Given the description of an element on the screen output the (x, y) to click on. 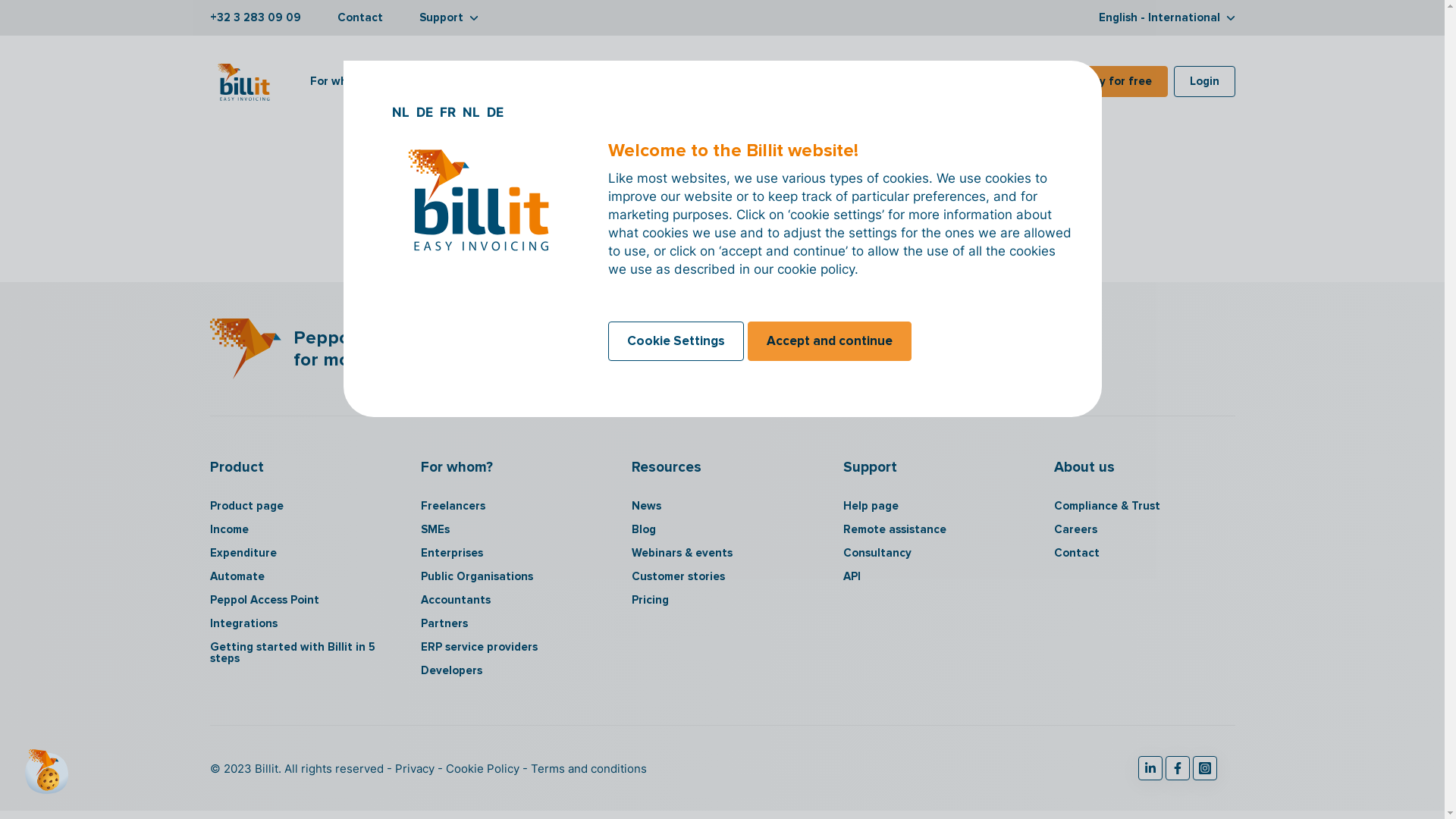
cookie policy Element type: text (815, 268)
Pricing Element type: text (721, 599)
Contact Element type: text (1144, 552)
Terms and conditions Element type: text (583, 768)
Webinars & events Element type: text (721, 552)
Income Element type: text (299, 529)
FR Element type: text (448, 111)
Product Element type: text (447, 81)
Enterprises Element type: text (510, 552)
News Element type: text (721, 505)
DE Element type: text (425, 111)
text Element type: hover (1204, 768)
Try for free Element type: text (1119, 80)
Contact Element type: text (359, 17)
DE Element type: text (494, 111)
Careers Element type: text (1144, 529)
Automate Element type: text (299, 576)
Accept and continue Element type: text (829, 340)
arrow down Element type: hover (472, 17)
arrow down Element type: hover (830, 80)
NL Element type: text (401, 111)
NL Element type: text (472, 111)
For whom? Element type: text (345, 81)
Support Element type: text (447, 17)
Blog Element type: text (721, 529)
Customer stories Element type: text (721, 576)
Cookie Policy Element type: text (478, 768)
Help page Element type: text (933, 505)
SMEs Element type: text (510, 529)
Partners Element type: text (510, 623)
Peppol Access Point Element type: text (299, 599)
Pricing Element type: text (709, 81)
Expenditure Element type: text (299, 552)
Developers Element type: text (510, 670)
text Element type: hover (1149, 768)
ERP service providers Element type: text (510, 646)
Resources Element type: text (799, 81)
Billit Logo Element type: hover (244, 85)
text Element type: hover (1176, 768)
Accountants Element type: text (510, 599)
Billit Logo Element type: hover (244, 348)
Public Organisations Element type: text (510, 576)
Privacy Element type: text (411, 768)
Peppol Element type: text (635, 81)
Integrations Element type: text (299, 623)
arrow down Element type: hover (1229, 17)
Freelancers Element type: text (510, 505)
Product page Element type: text (299, 505)
English - International Element type: text (1166, 17)
arrow down Element type: hover (377, 80)
arrow down Element type: hover (472, 80)
Remote assistance Element type: text (933, 529)
Compliance & Trust Element type: text (1144, 505)
Getting started with Billit in 5 steps Element type: text (299, 652)
Login Element type: text (1204, 80)
API Element type: text (933, 576)
Integrations Element type: text (547, 81)
+32 3 283 09 09 Element type: text (254, 17)
Consultancy Element type: text (933, 552)
Cookie Settings Element type: text (675, 340)
